Given the description of an element on the screen output the (x, y) to click on. 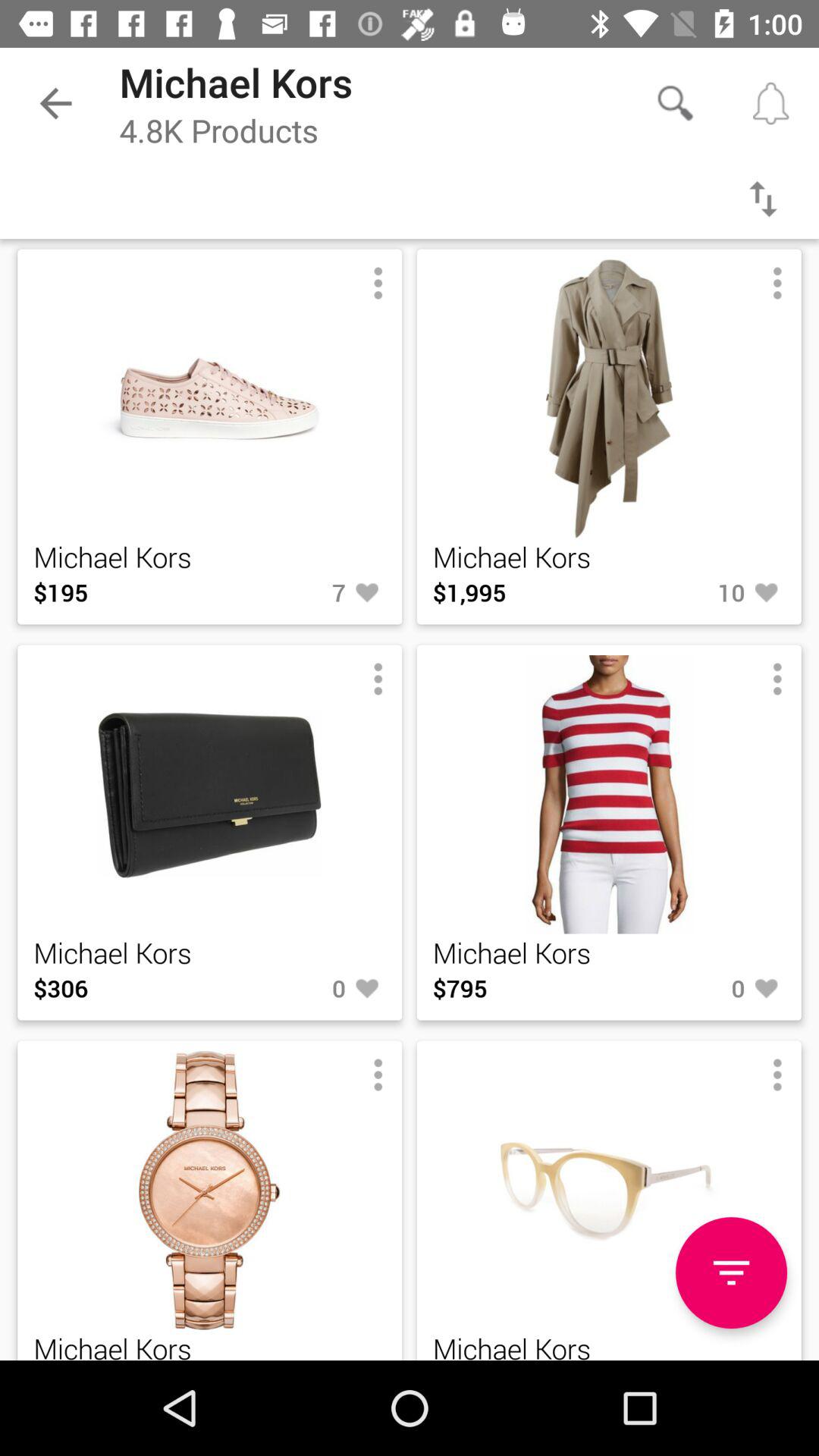
turn off item to the right of $1,995 icon (697, 592)
